Given the description of an element on the screen output the (x, y) to click on. 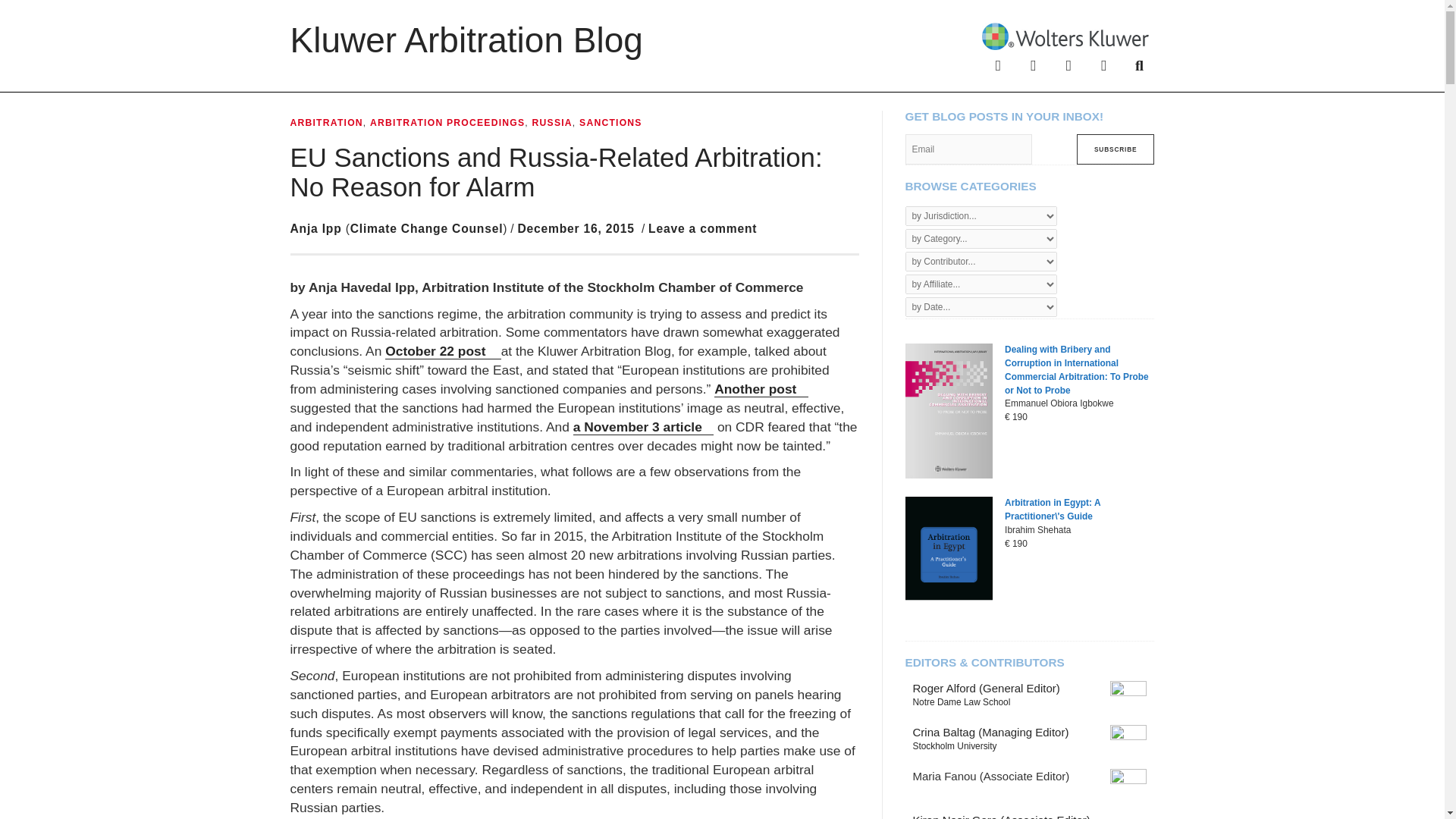
a November 3 article (643, 426)
Youtube (1104, 64)
Wolters Kluwer Home (1064, 34)
ARBITRATION PROCEEDINGS (446, 122)
SANCTIONS (610, 122)
December 16, 2015 (574, 228)
Subscribe (1115, 149)
Facebook (997, 64)
October 22 post (442, 351)
